Given the description of an element on the screen output the (x, y) to click on. 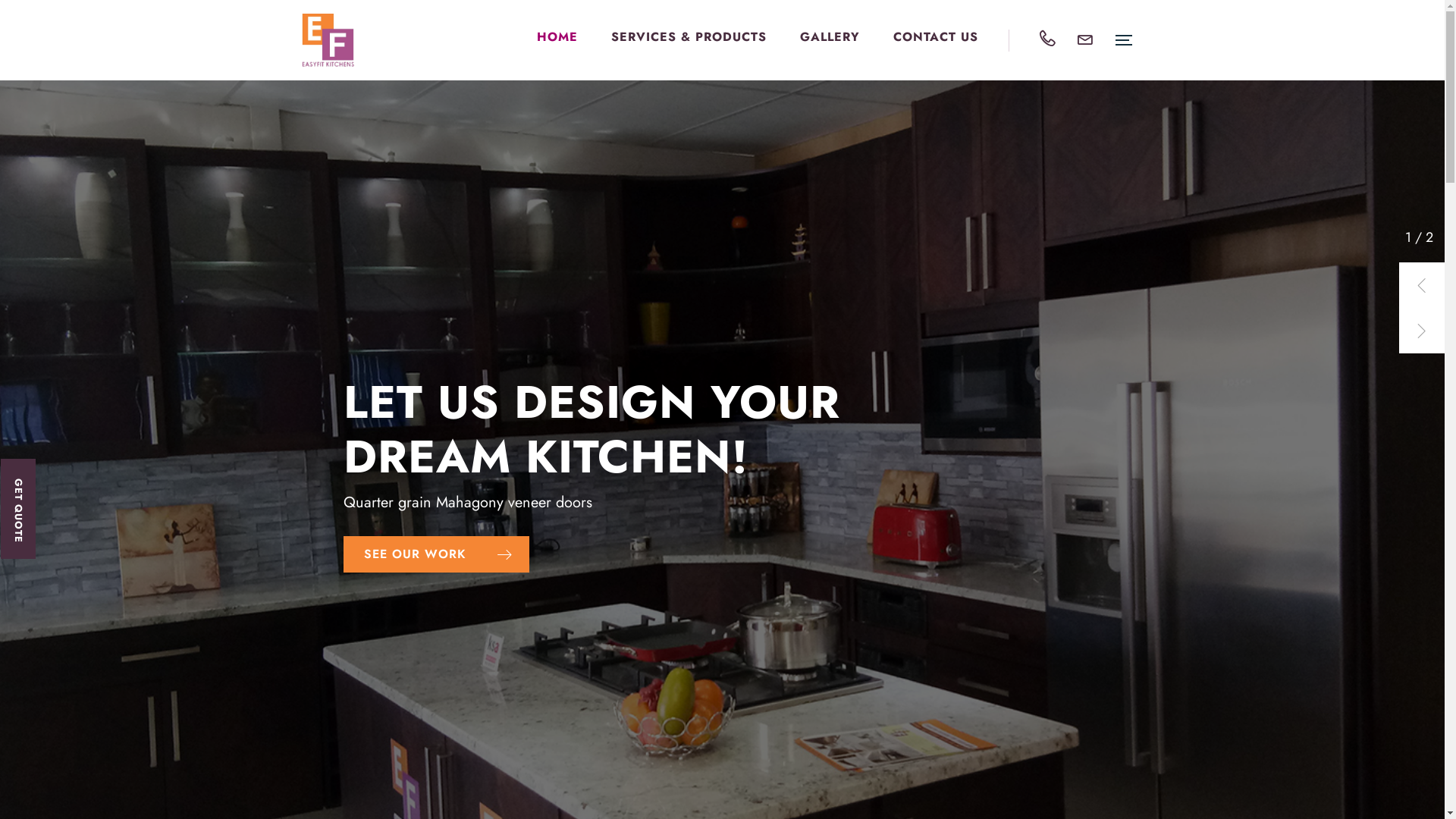
EasyFit Kitchens Element type: hover (327, 39)
SEE OUR WORK Element type: text (435, 554)
CONTACT US Element type: text (935, 36)
SERVICES & PRODUCTS Element type: text (688, 36)
GALLERY Element type: text (829, 36)
HOME Element type: text (556, 36)
GET QUOTE Element type: text (50, 475)
